Given the description of an element on the screen output the (x, y) to click on. 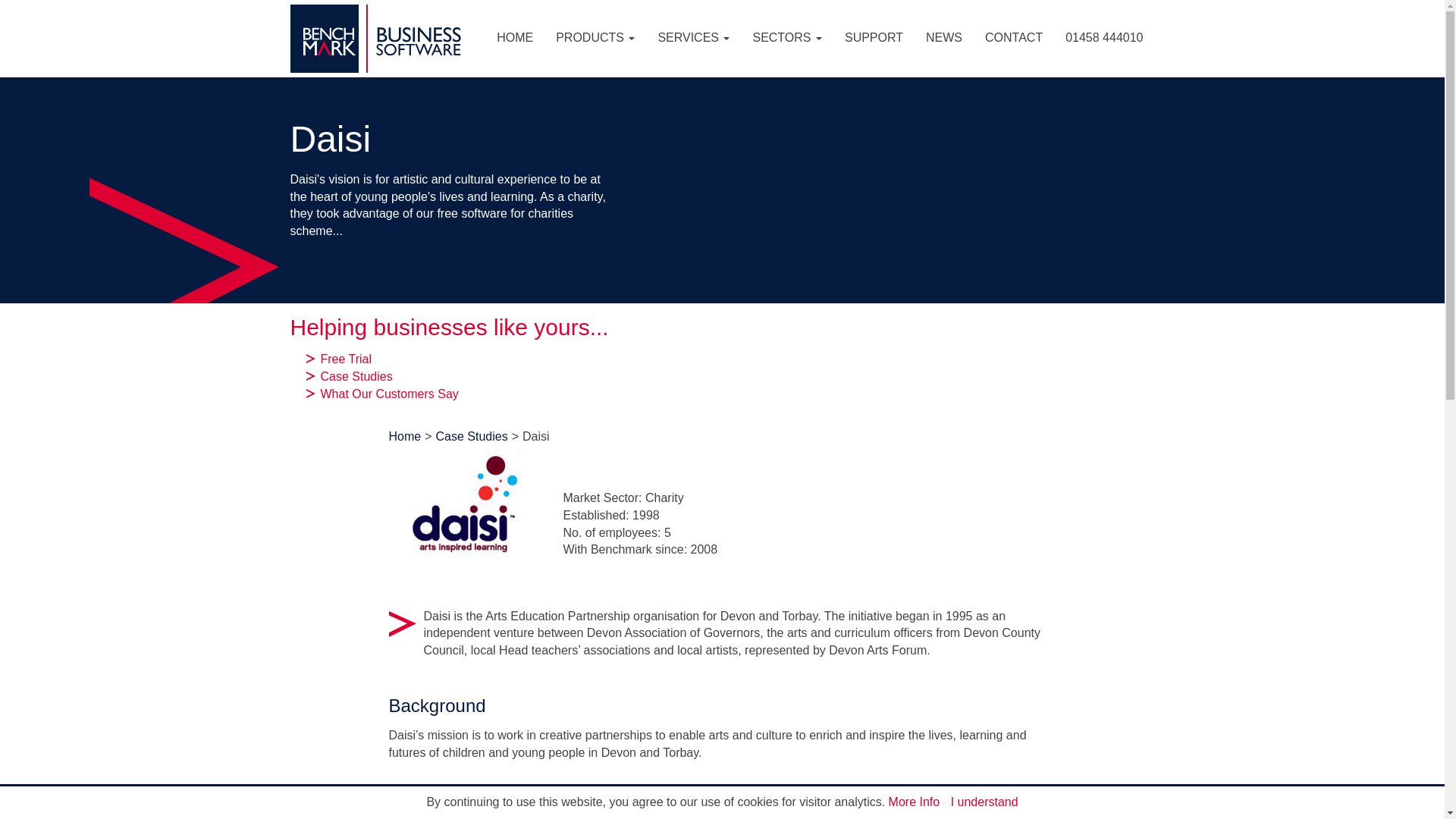
Home (375, 2)
SERVICES (693, 38)
SECTORS (786, 38)
PRODUCTS (595, 38)
Benchmark Software (375, 2)
